Given the description of an element on the screen output the (x, y) to click on. 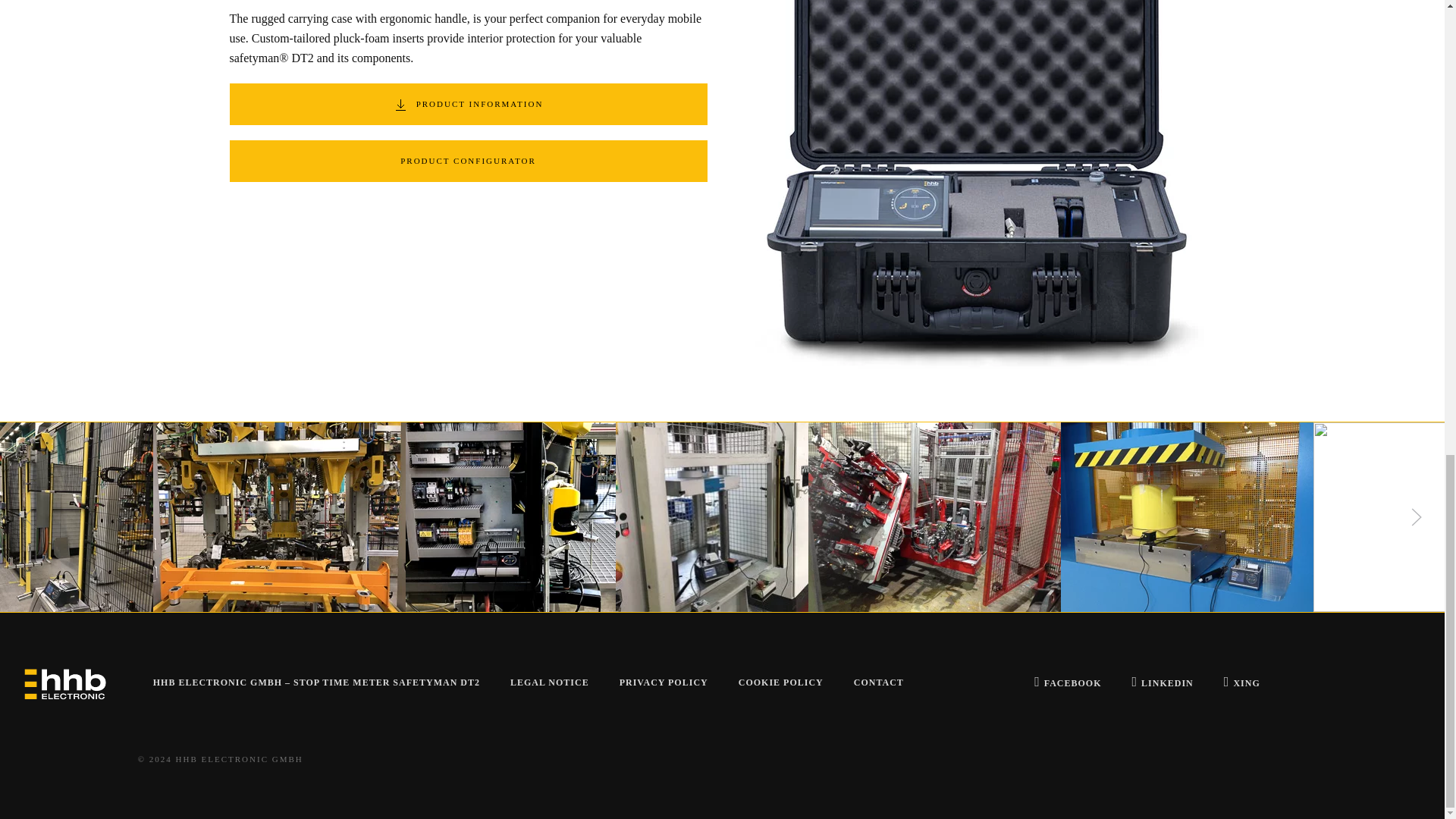
LEGAL NOTICE (549, 683)
PRODUCT INFORMATION (467, 104)
PRODUCT CONFIGURATOR (467, 160)
